Given the description of an element on the screen output the (x, y) to click on. 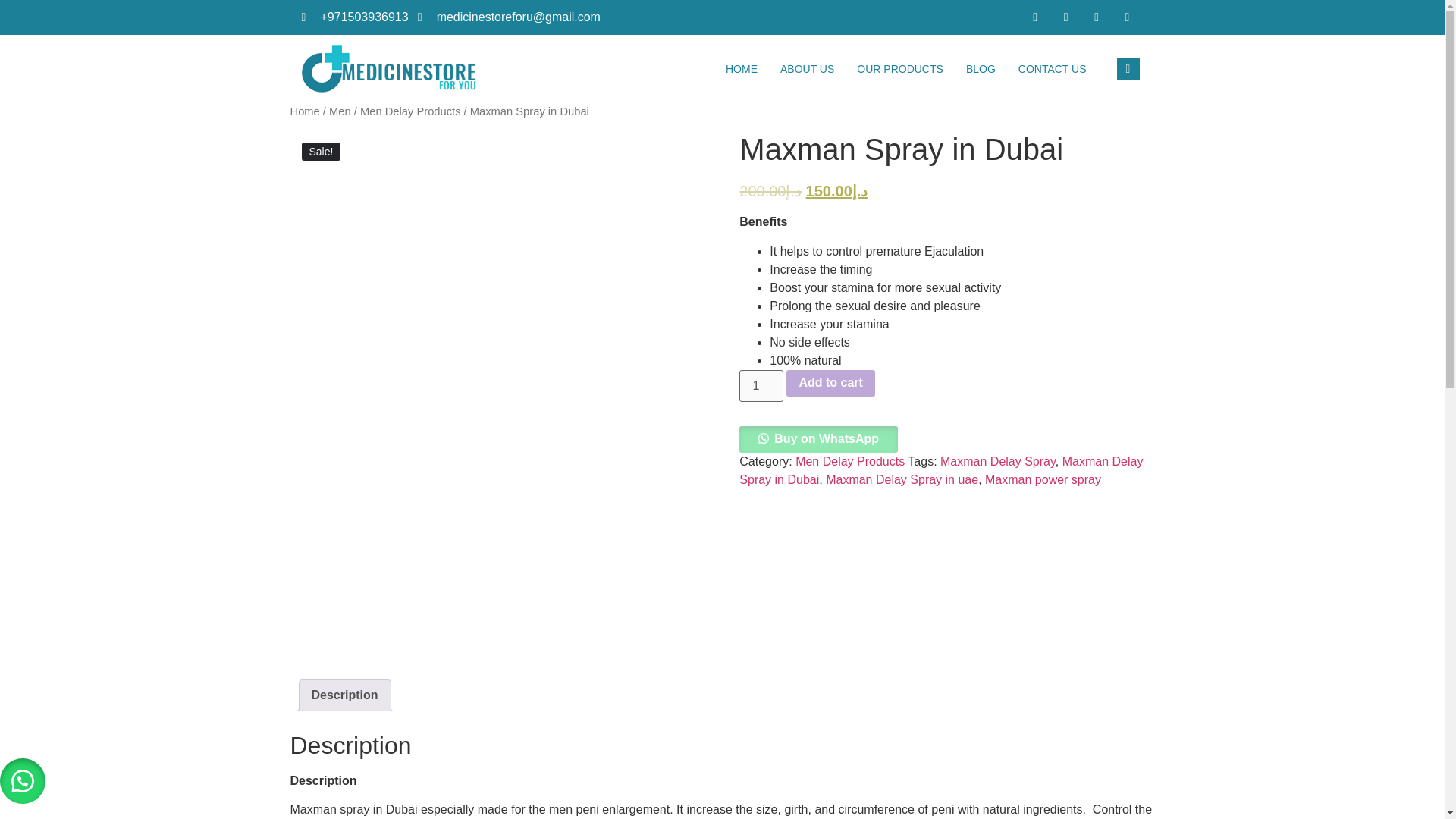
Description (344, 695)
ABOUT US (806, 68)
1 (761, 386)
HOME (741, 68)
Maxman Delay Spray in uae (901, 479)
Men Delay Products (849, 461)
Buy on WhatsApp (818, 438)
Add to cart (830, 383)
BLOG (981, 68)
Men (339, 111)
